Given the description of an element on the screen output the (x, y) to click on. 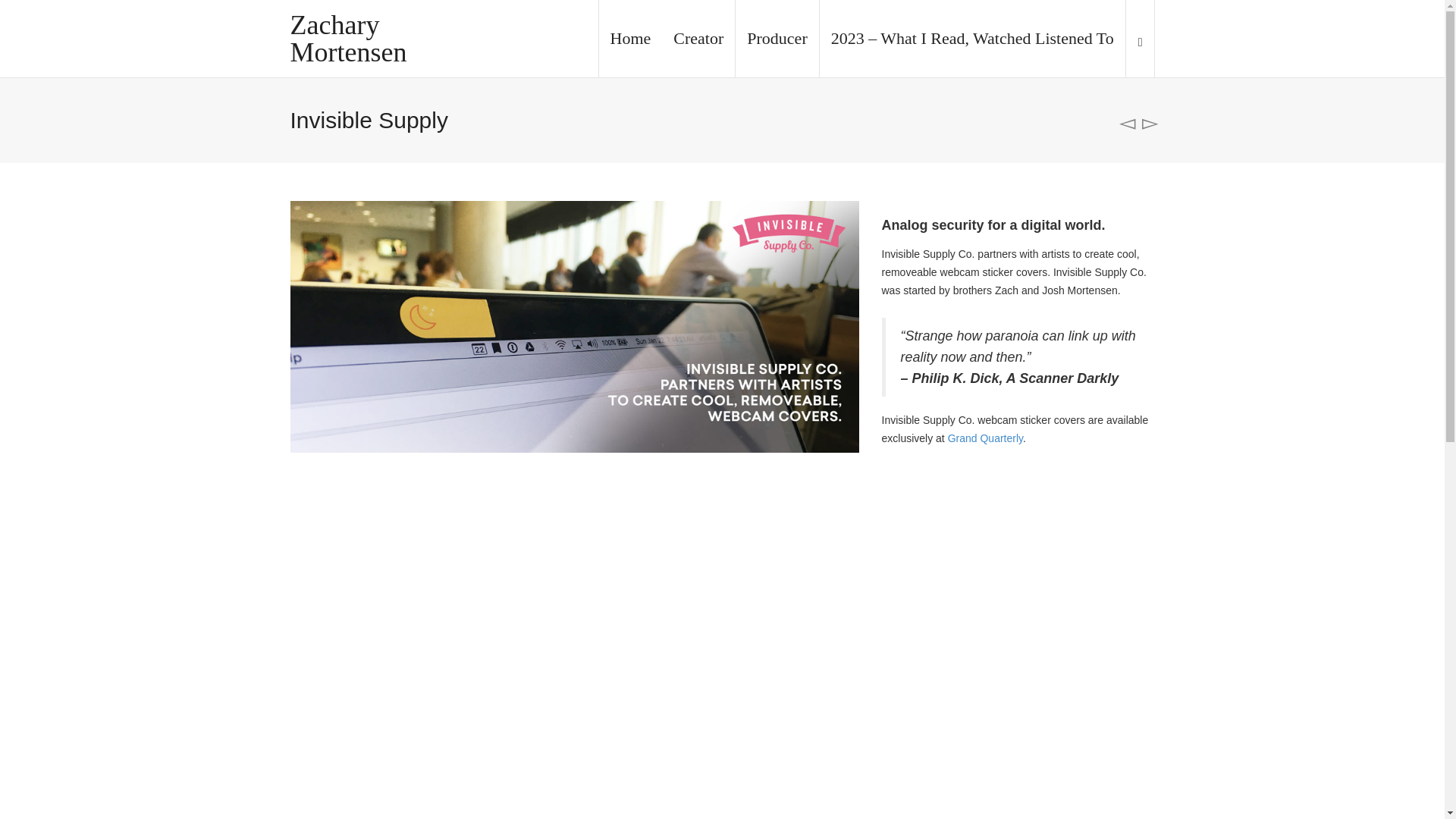
Producer (776, 38)
Zachary Mortensen (389, 38)
Creator (698, 38)
Grand Quarterly (985, 438)
